Given the description of an element on the screen output the (x, y) to click on. 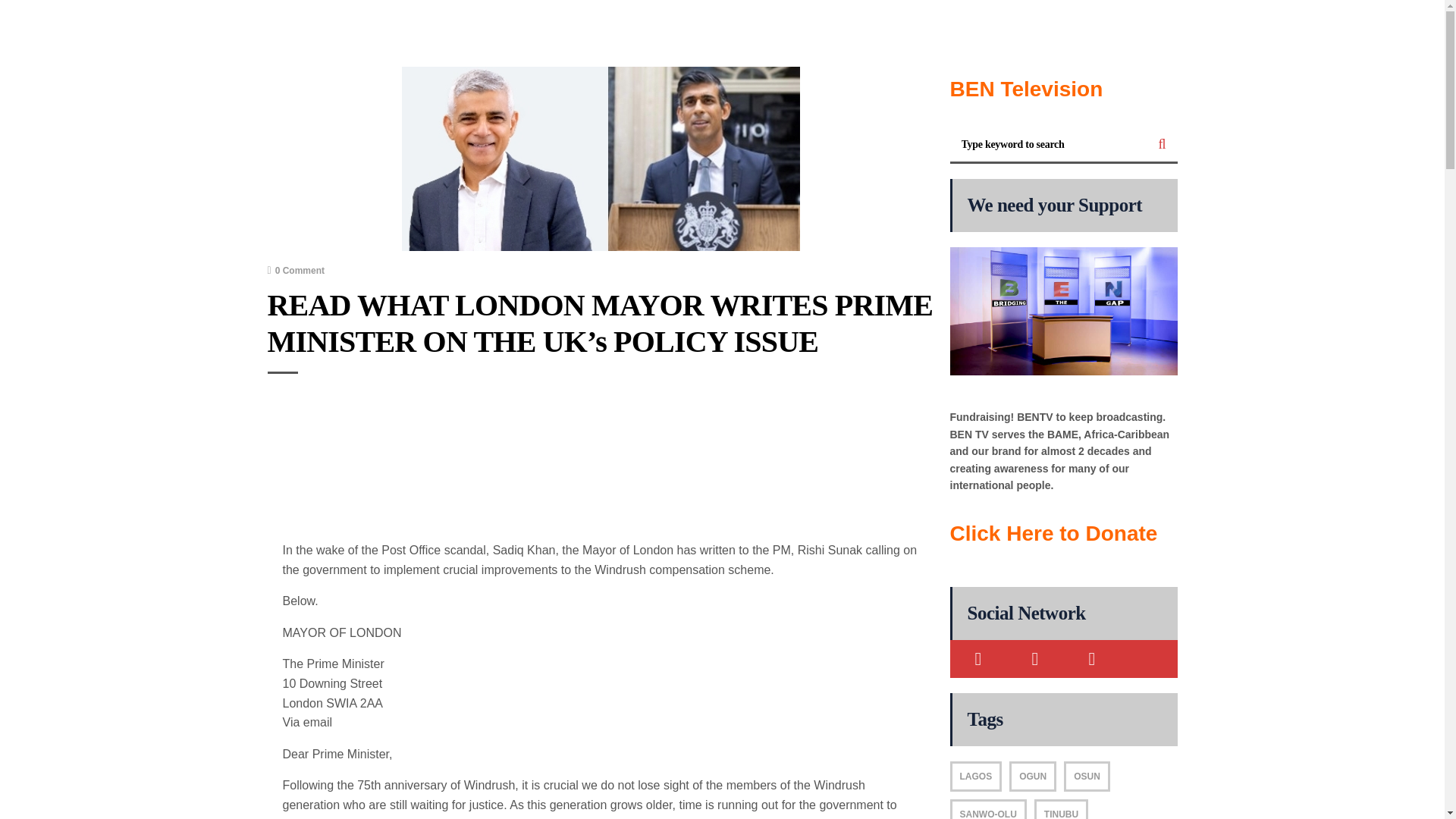
Advertisement (600, 464)
Type keyword to search (1048, 144)
Type keyword to search (1048, 144)
